Given the description of an element on the screen output the (x, y) to click on. 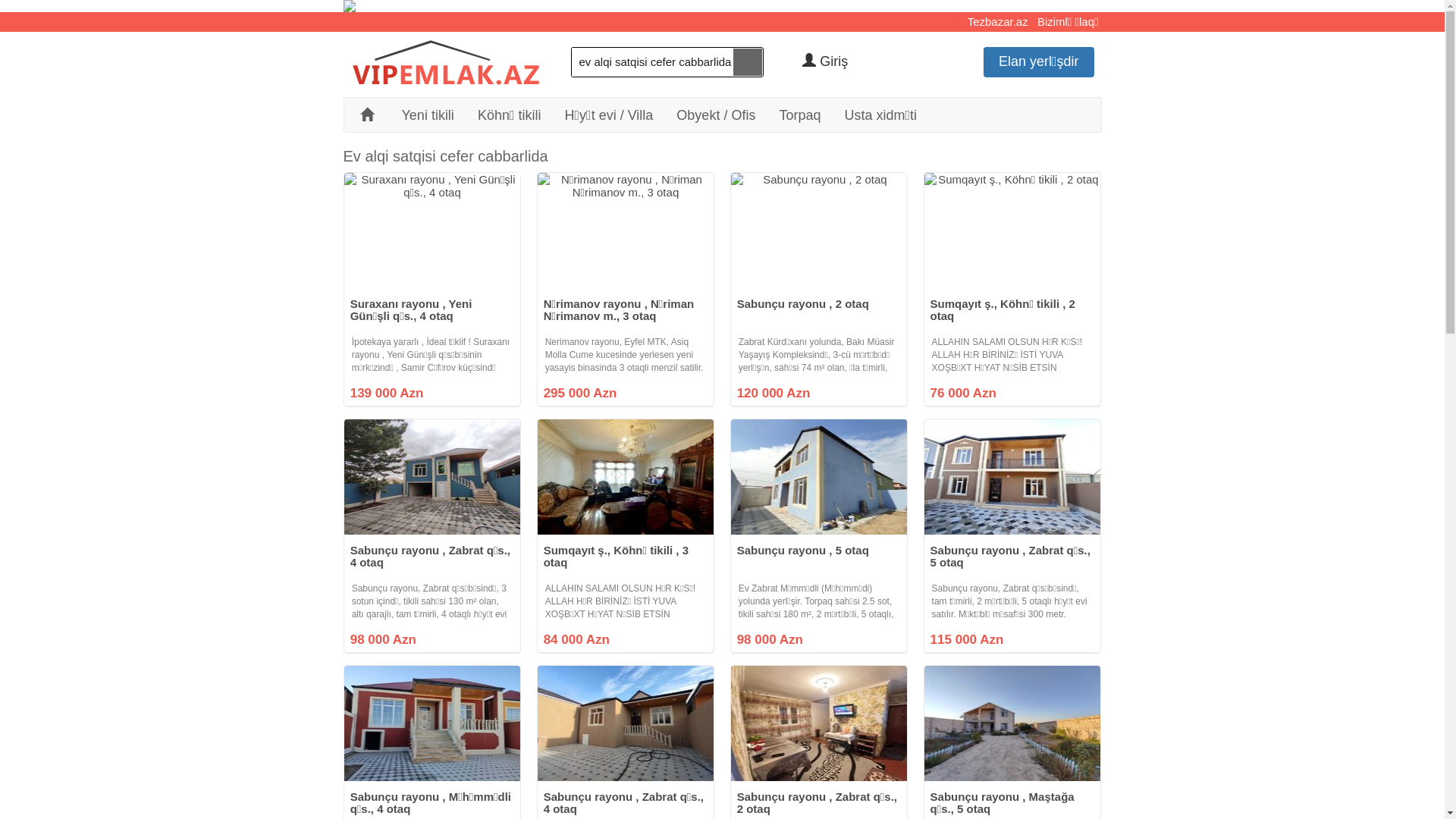
Tezbazar.az Element type: text (997, 21)
VIPEMLAK.AZ emlak elanlari sayti, dasinmaz emlak Element type: hover (444, 62)
  Element type: text (747, 61)
Yeni tikili Element type: text (427, 113)
Obyekt / Ofis Element type: text (716, 113)
Torpaq Element type: text (799, 113)
VIPEMLAK.AZ emlak elanlari sayti, dasinmaz emlak Element type: hover (444, 62)
